Given the description of an element on the screen output the (x, y) to click on. 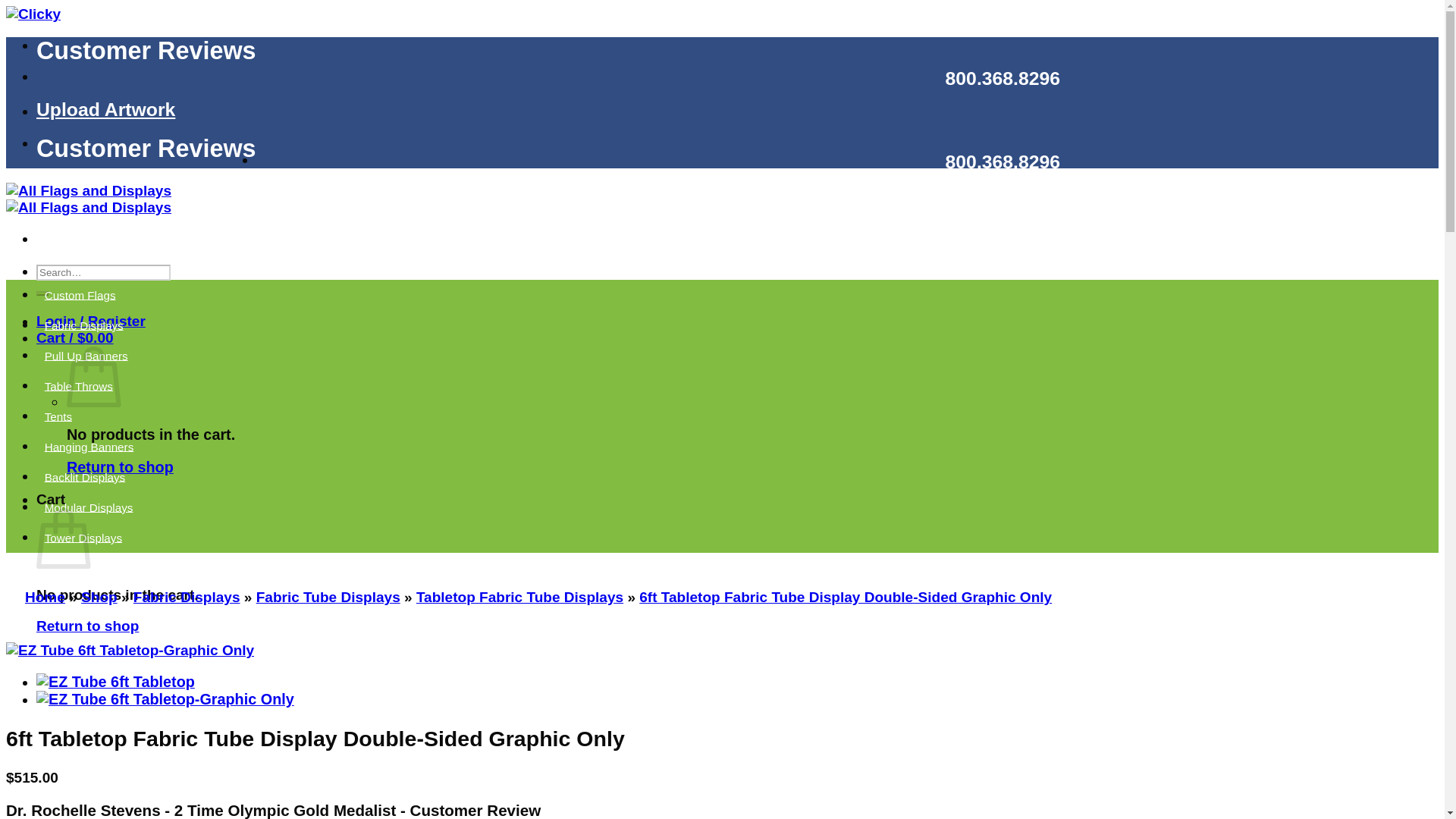
Fabric Displays (186, 596)
Custom Flags (79, 294)
Fabric Tube Displays (328, 596)
Home (44, 596)
Web Analytics (33, 13)
Fabric Displays (83, 324)
Fabric Tube Displays (328, 596)
6ft Tabletop Fabric Tube Display Double-Sided (115, 681)
Shop (99, 596)
Table Throws (78, 385)
